Given the description of an element on the screen output the (x, y) to click on. 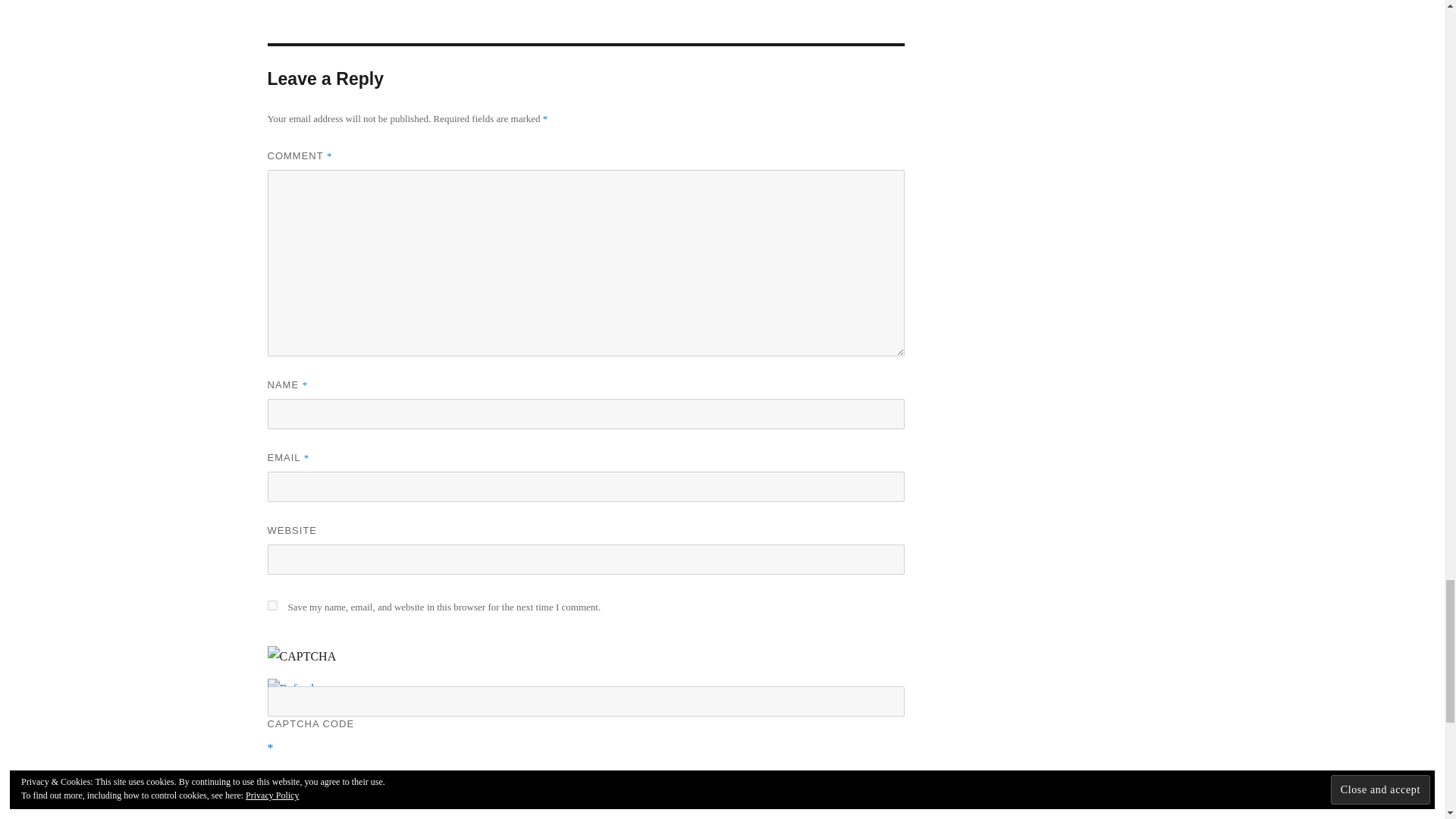
Post Comment (330, 796)
yes (271, 605)
Refresh (291, 688)
CAPTCHA (316, 662)
